Given the description of an element on the screen output the (x, y) to click on. 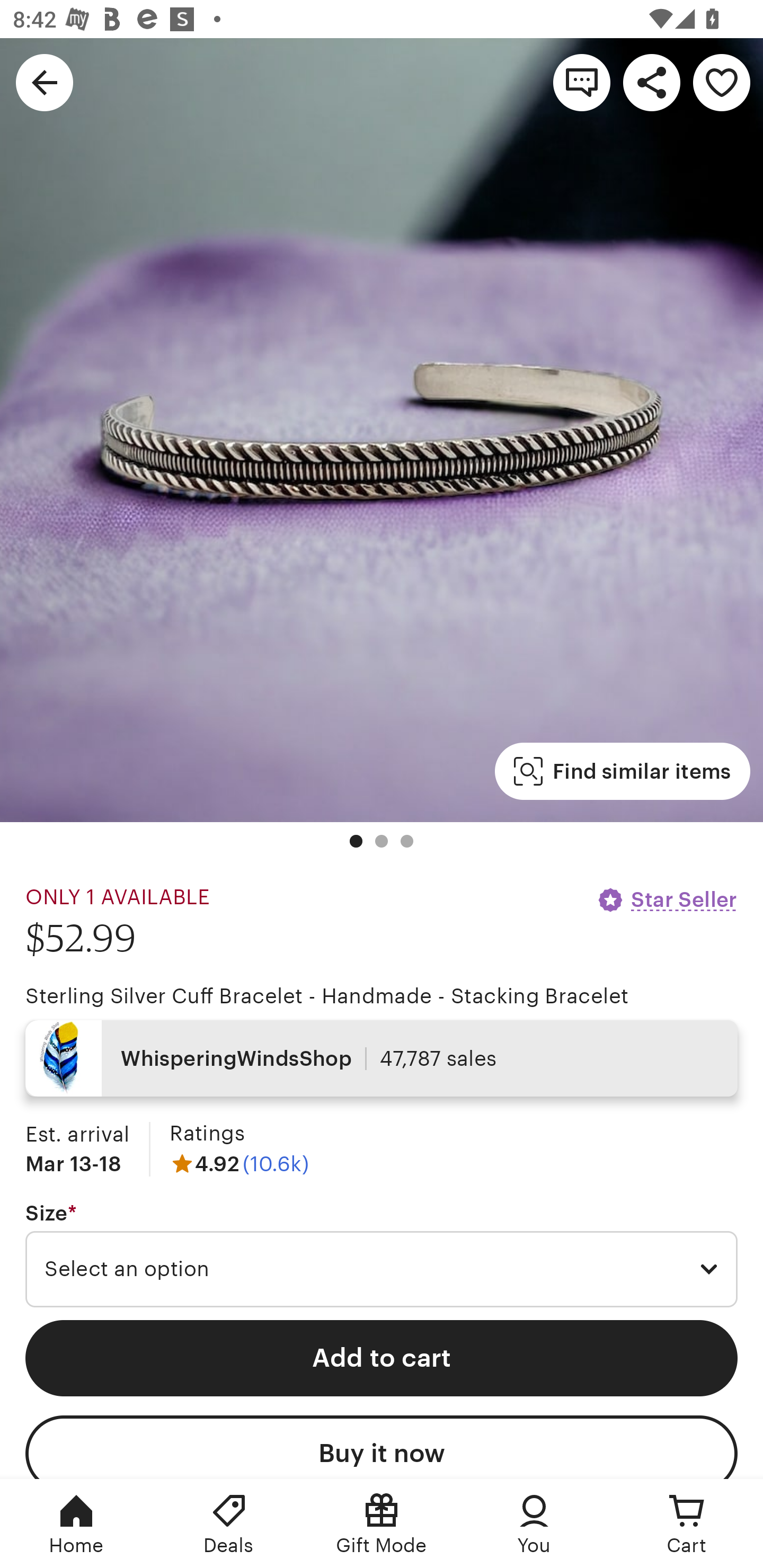
Navigate up (44, 81)
Contact shop (581, 81)
Share (651, 81)
Find similar items (622, 771)
Star Seller (666, 899)
WhisperingWindsShop 47,787 sales (381, 1058)
Ratings (206, 1133)
4.92 (10.6k) (239, 1163)
Size * Required Select an option (381, 1254)
Select an option (381, 1268)
Add to cart (381, 1358)
Buy it now (381, 1446)
Deals (228, 1523)
Gift Mode (381, 1523)
You (533, 1523)
Cart (686, 1523)
